Given the description of an element on the screen output the (x, y) to click on. 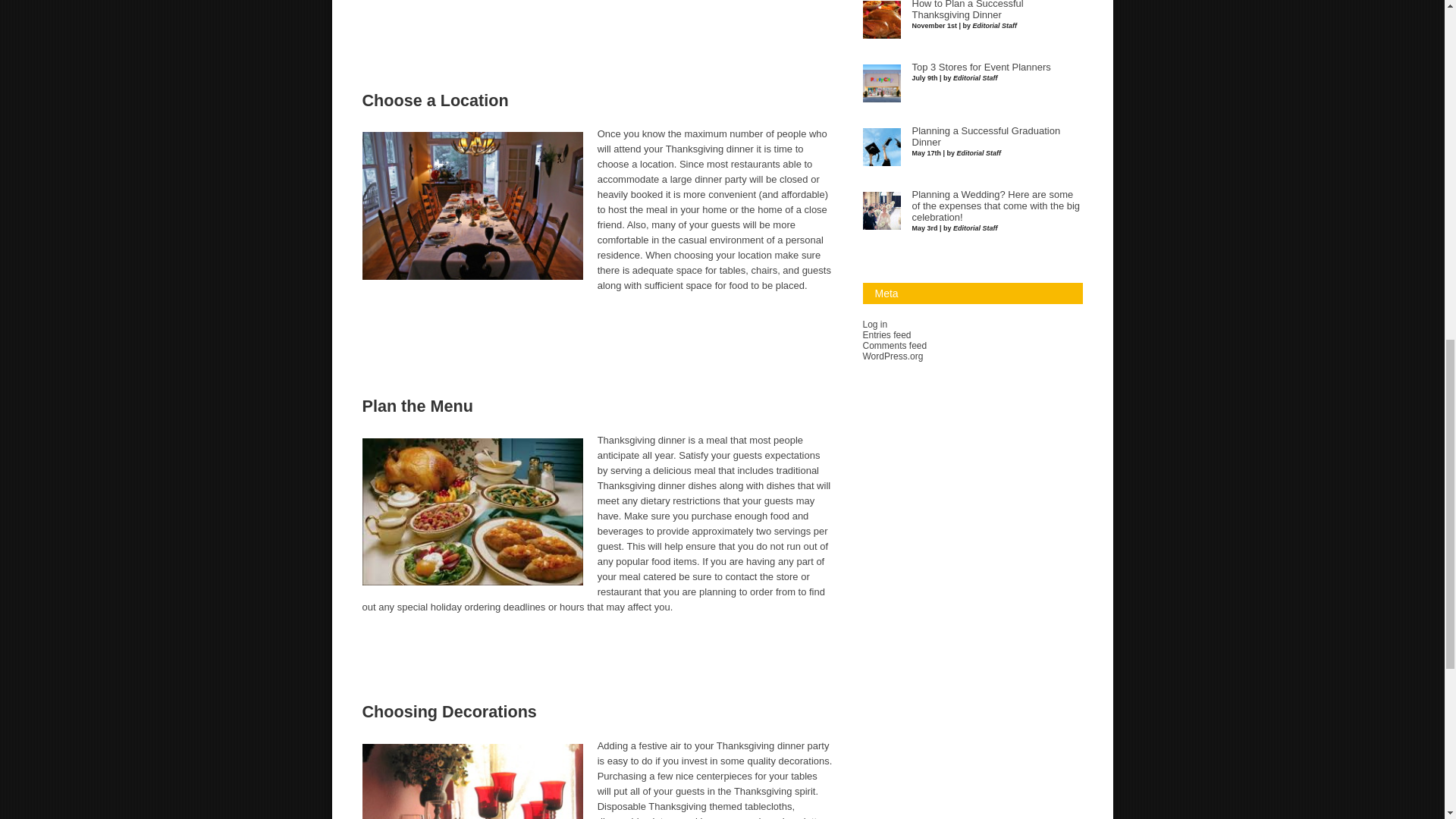
How to Plan a Successful Thanksgiving Dinner (967, 10)
Top 3 Stores for Event Planners (980, 67)
Advertisement (430, 38)
Planning a Successful Graduation Dinner (985, 137)
